Given the description of an element on the screen output the (x, y) to click on. 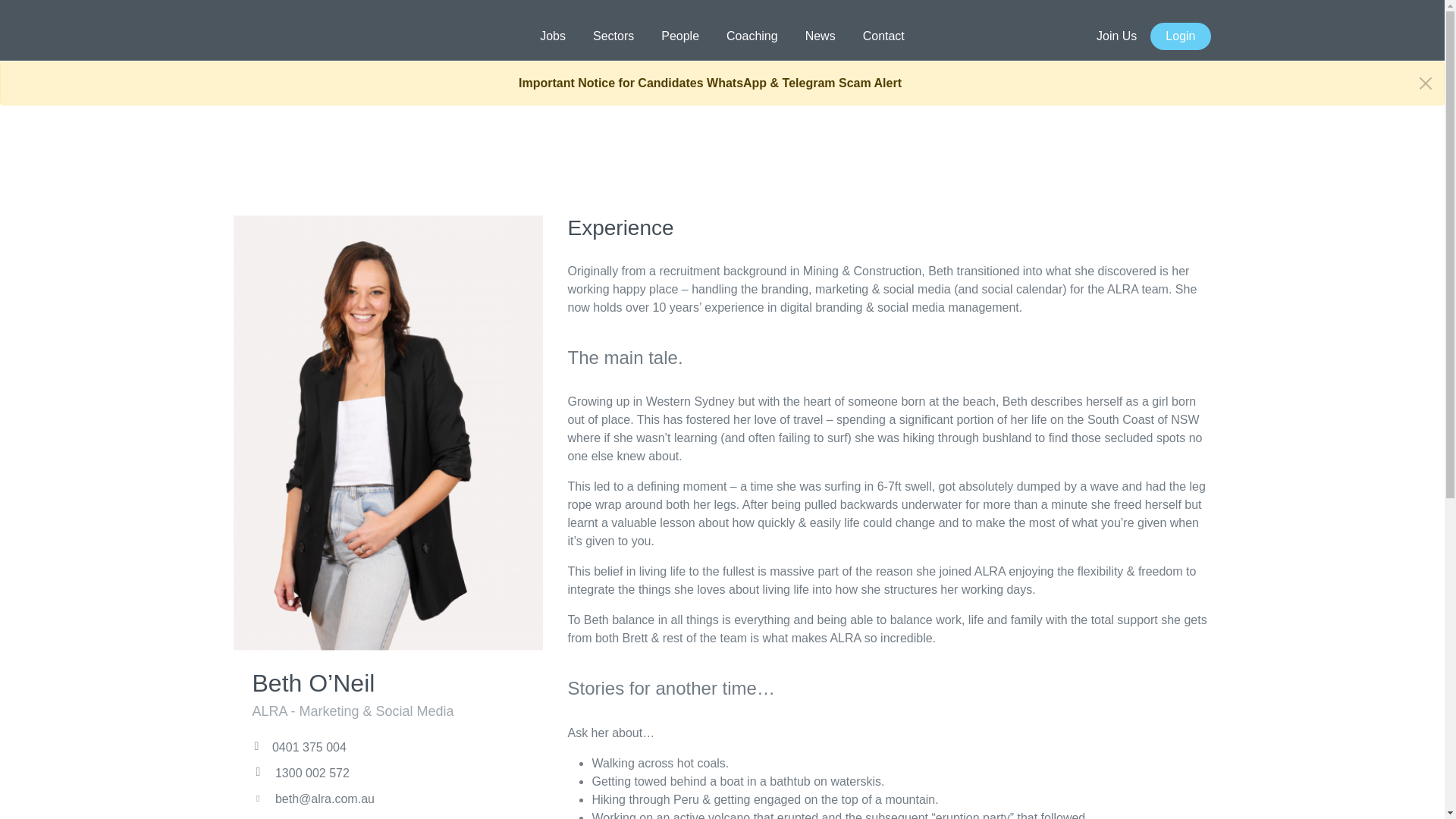
News (820, 36)
Jobs (552, 36)
Contact (883, 36)
Join Us (1116, 36)
Login (1179, 35)
People (680, 36)
0401 375 004 (298, 747)
Sectors (613, 36)
1300 002 572 (300, 772)
Coaching (752, 36)
